Given the description of an element on the screen output the (x, y) to click on. 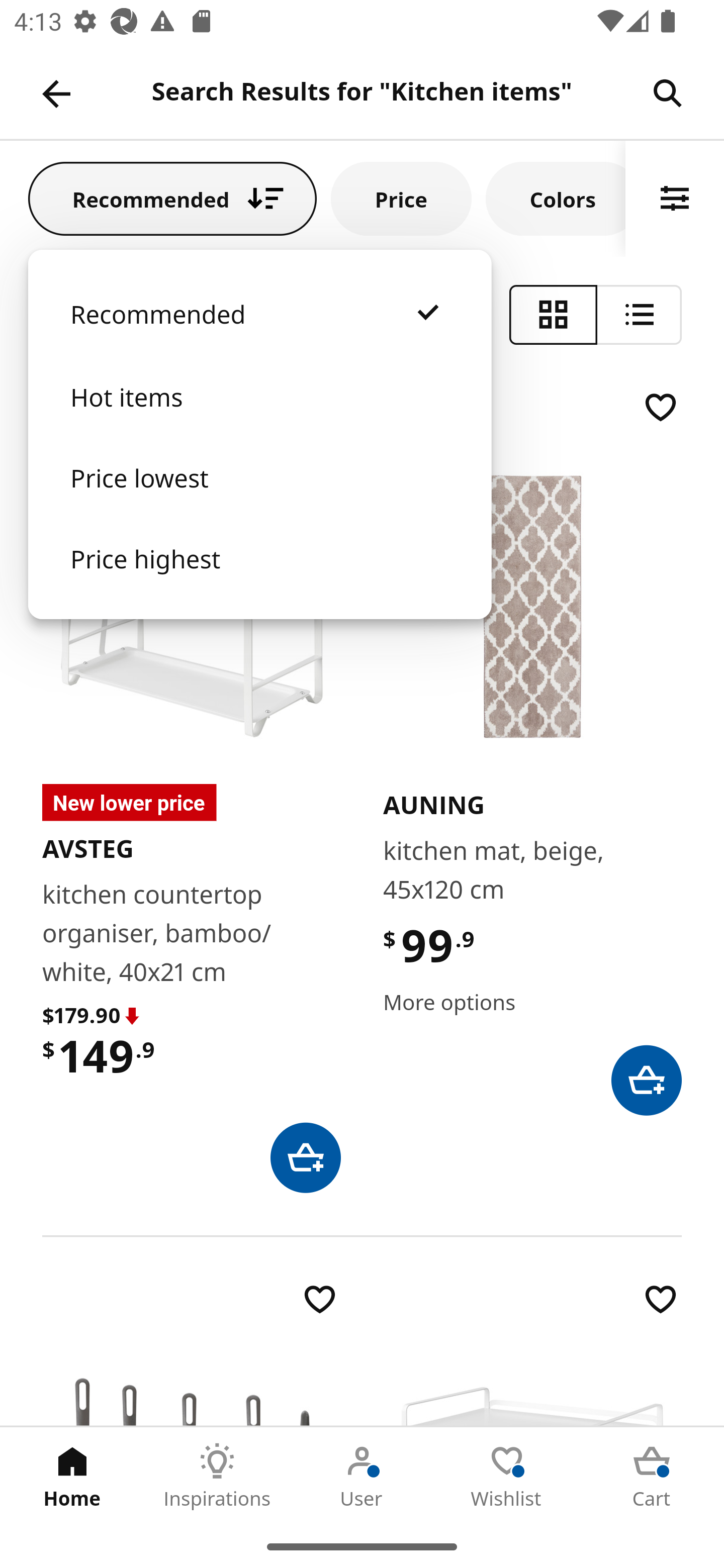
Recommended (172, 198)
Price (400, 198)
Colors (555, 198)
Recommended (259, 333)
Hot items (259, 416)
Price lowest (259, 497)
Price highest (259, 578)
Home
Tab 1 of 5 (72, 1476)
Inspirations
Tab 2 of 5 (216, 1476)
User
Tab 3 of 5 (361, 1476)
Wishlist
Tab 4 of 5 (506, 1476)
Cart
Tab 5 of 5 (651, 1476)
